Given the description of an element on the screen output the (x, y) to click on. 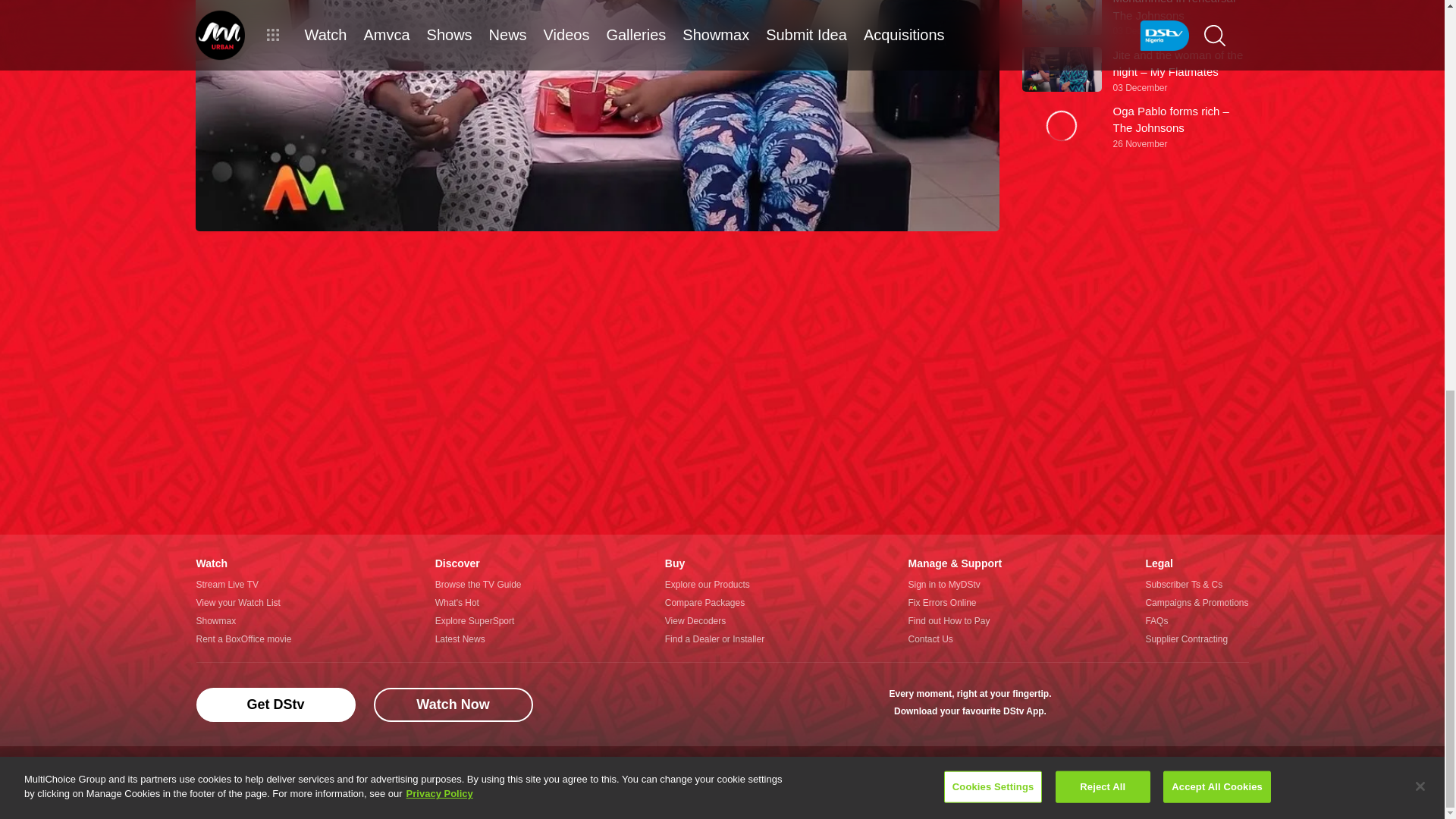
Browse the TV Guide (478, 584)
Get DStv (275, 704)
Rent a BoxOffice movie (243, 638)
Contact Us (954, 638)
Supplier Contracting (1195, 638)
Watch Now (452, 704)
Sign in to MyDStv (954, 584)
SuperSport (1228, 704)
View Decoders (714, 620)
Stream with DStv (1081, 704)
